Given the description of an element on the screen output the (x, y) to click on. 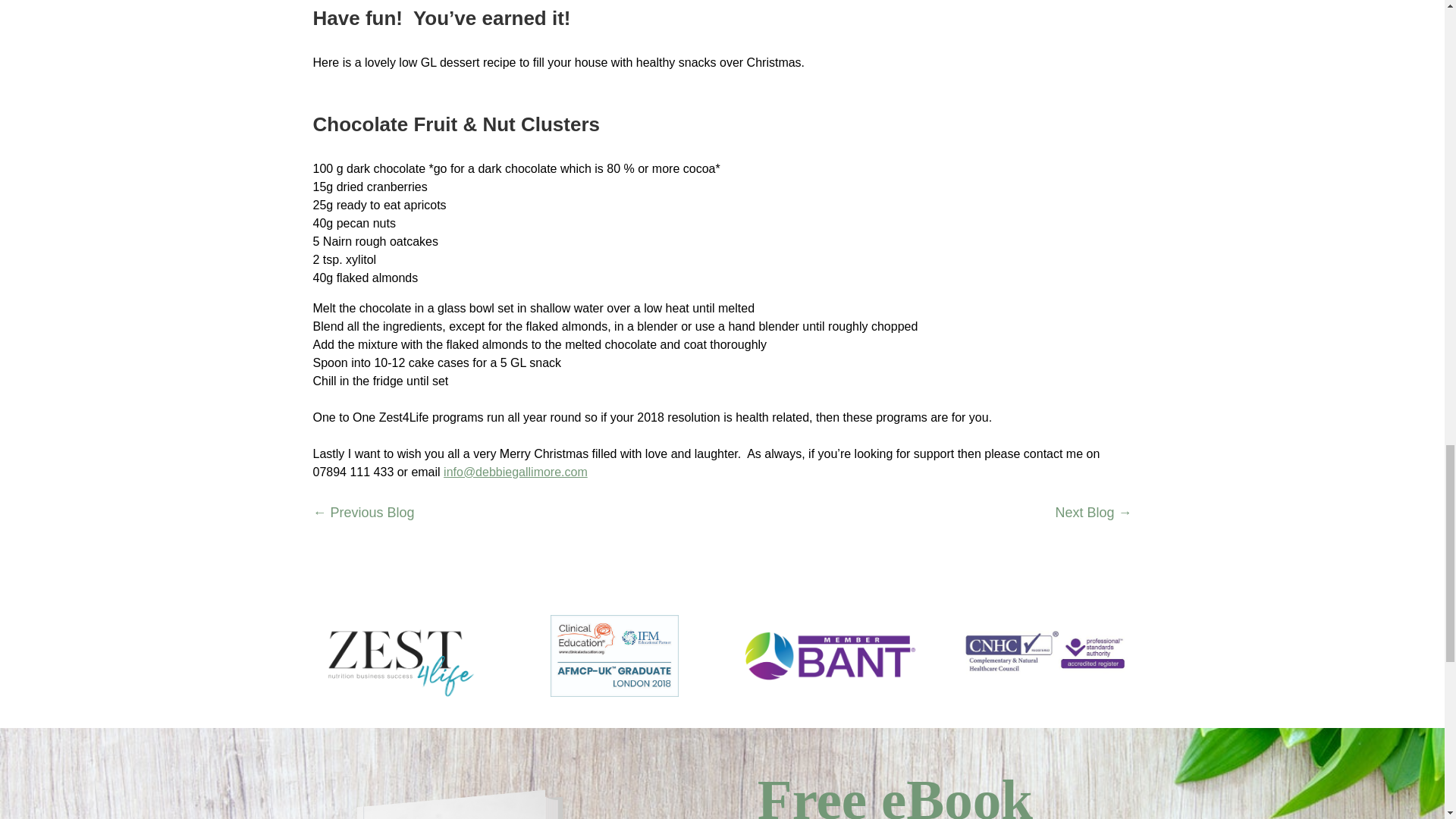
CNHC (1045, 654)
bant-member-logo (829, 655)
zest new cut out logo (398, 655)
debbie-gallimore-IFM (614, 656)
Healthy Happy Hormones (462, 795)
